Given the description of an element on the screen output the (x, y) to click on. 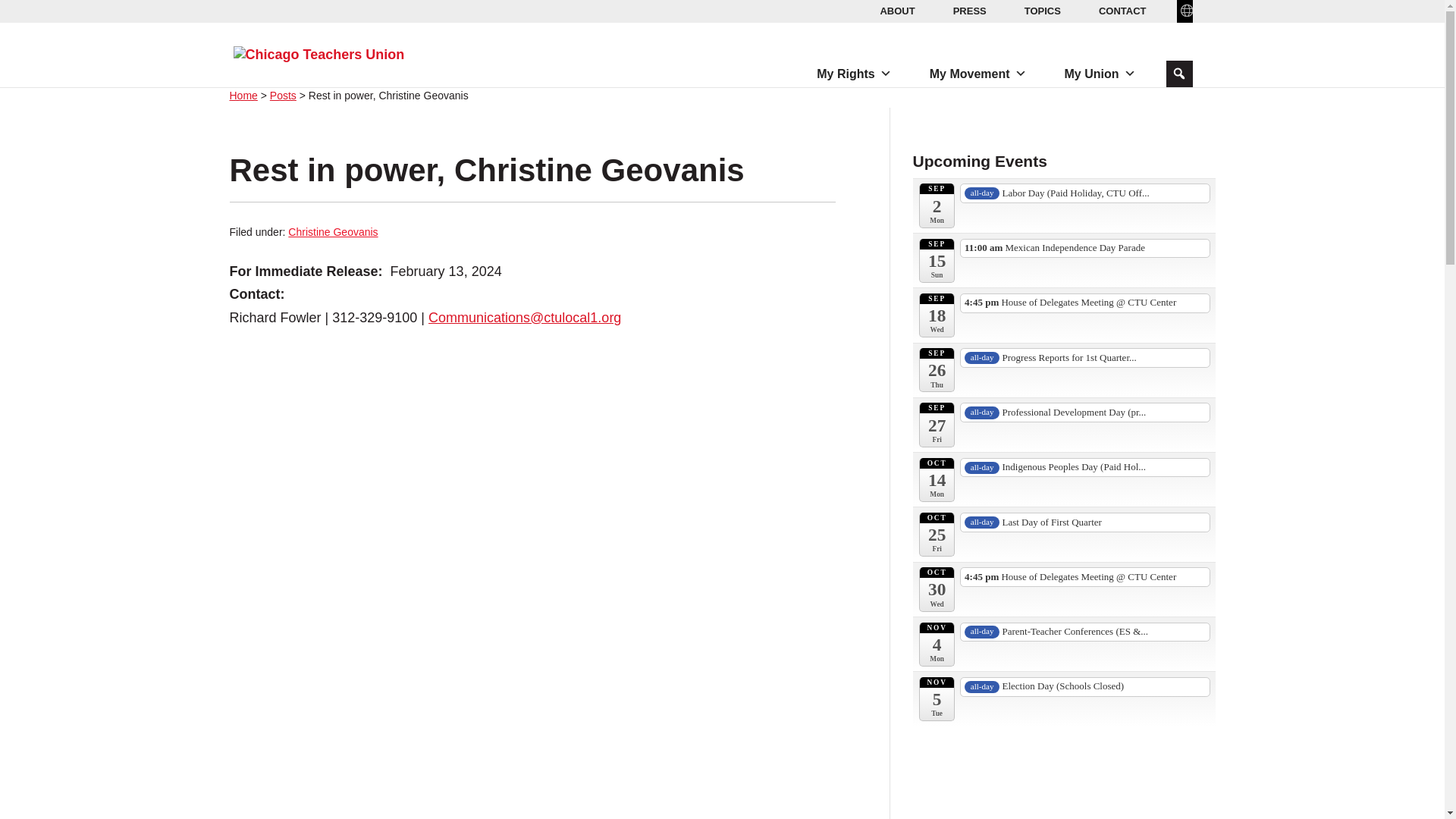
PRESS (969, 10)
My Rights (853, 73)
My Union (1099, 73)
Go to Chicago Teachers Union. (242, 95)
CONTACT (1122, 10)
TOPICS (1042, 10)
ABOUT (896, 10)
My Movement (977, 73)
